Given the description of an element on the screen output the (x, y) to click on. 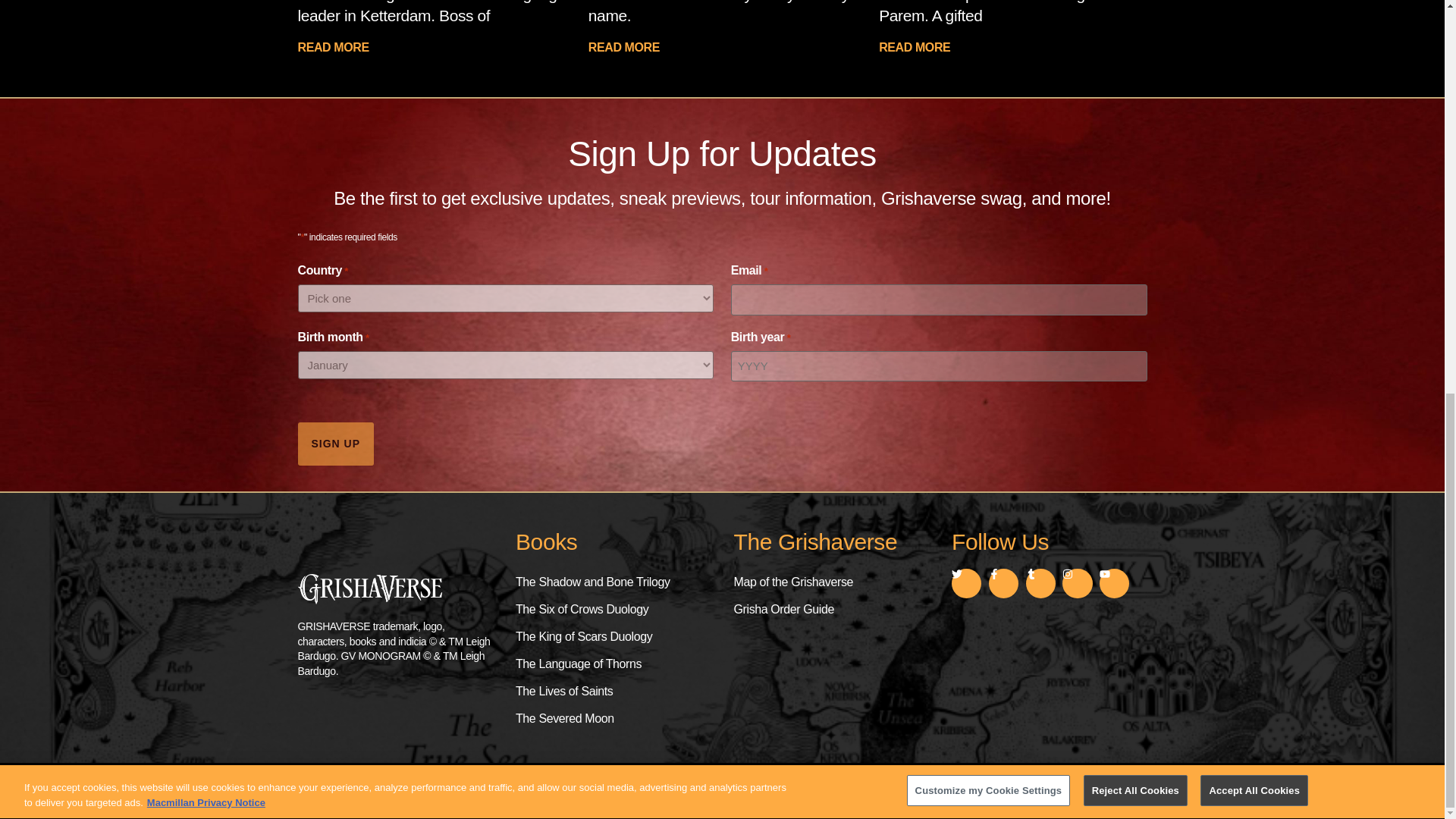
Sign up (335, 444)
